Given the description of an element on the screen output the (x, y) to click on. 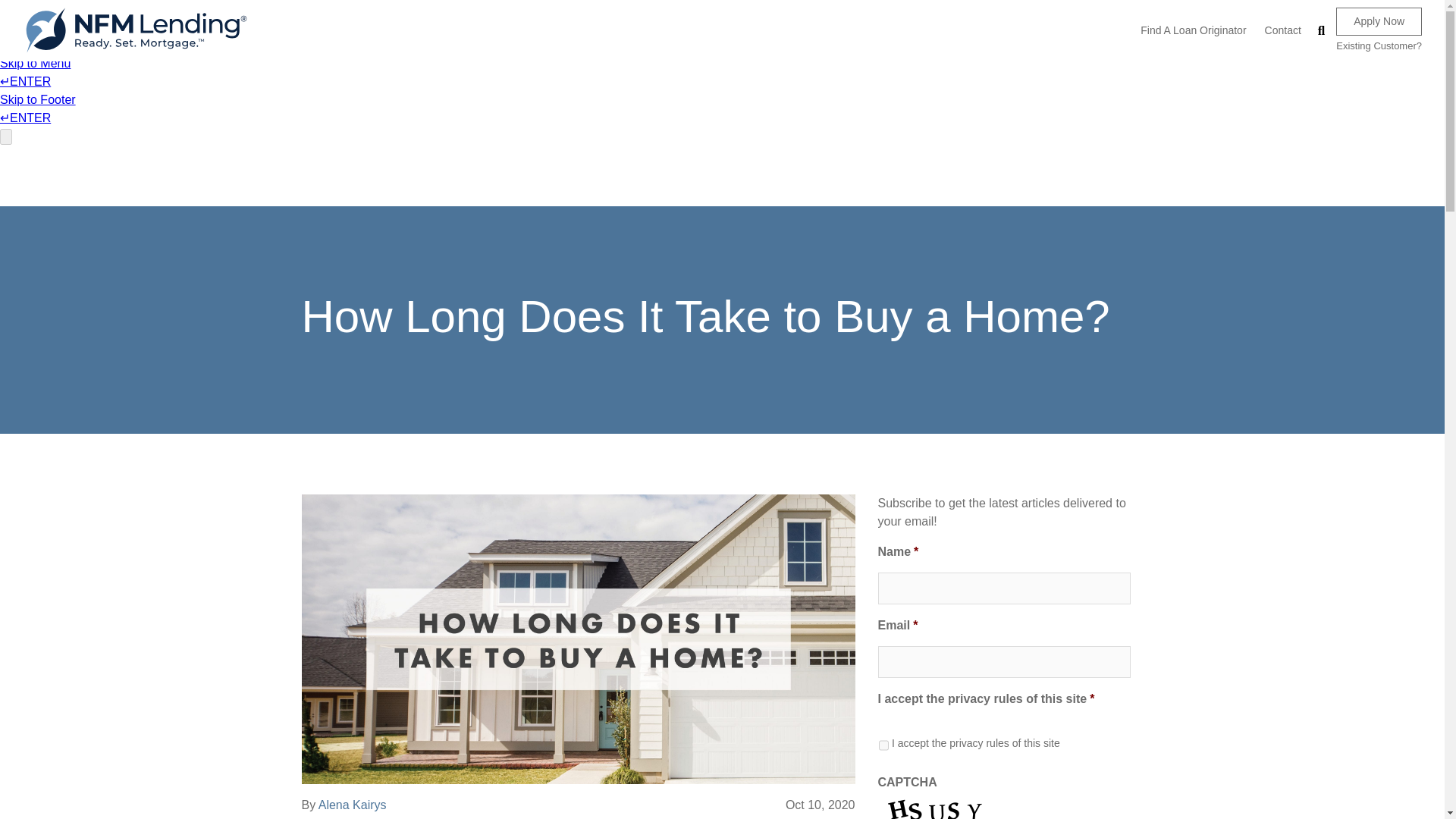
Existing Customer? (1379, 46)
Contact (1282, 30)
Apply Now (1379, 21)
Find A Loan Originator (1193, 30)
